Given the description of an element on the screen output the (x, y) to click on. 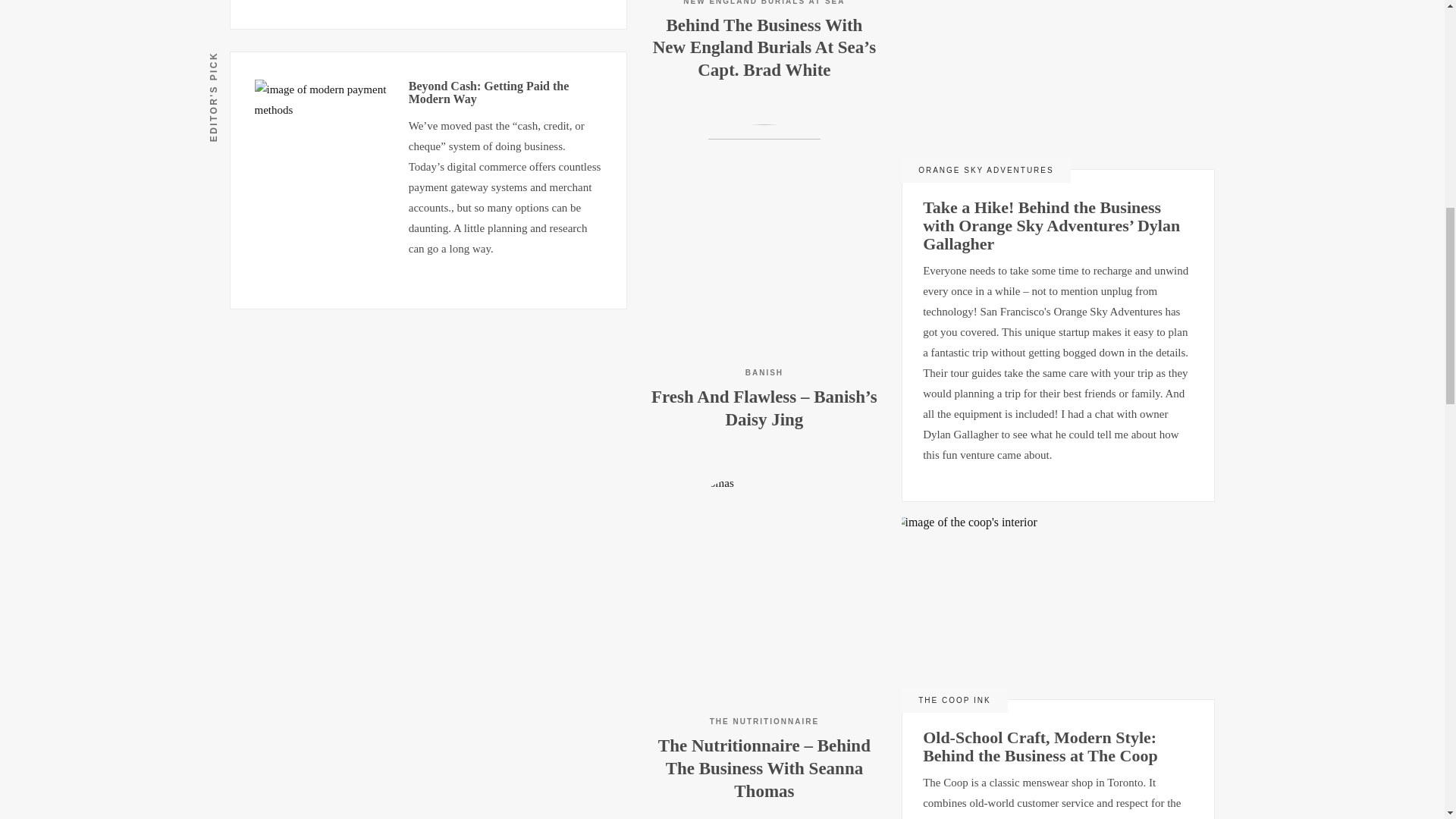
Beyond Cash: Getting Paid the Modern Way (323, 148)
Beyond Cash: Getting Paid the Modern Way (489, 92)
